Given the description of an element on the screen output the (x, y) to click on. 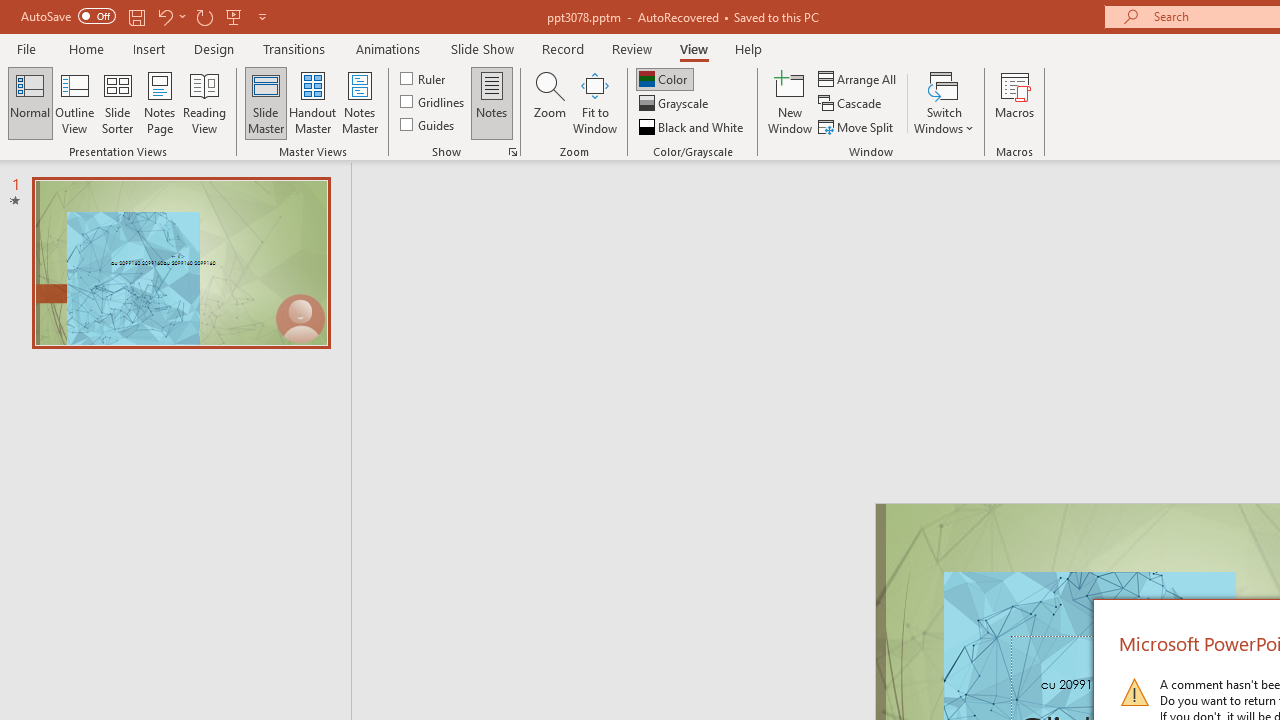
Notes Master (360, 102)
Warning Icon (1134, 691)
Slide Master (265, 102)
Arrange All (858, 78)
Grayscale (675, 103)
